Given the description of an element on the screen output the (x, y) to click on. 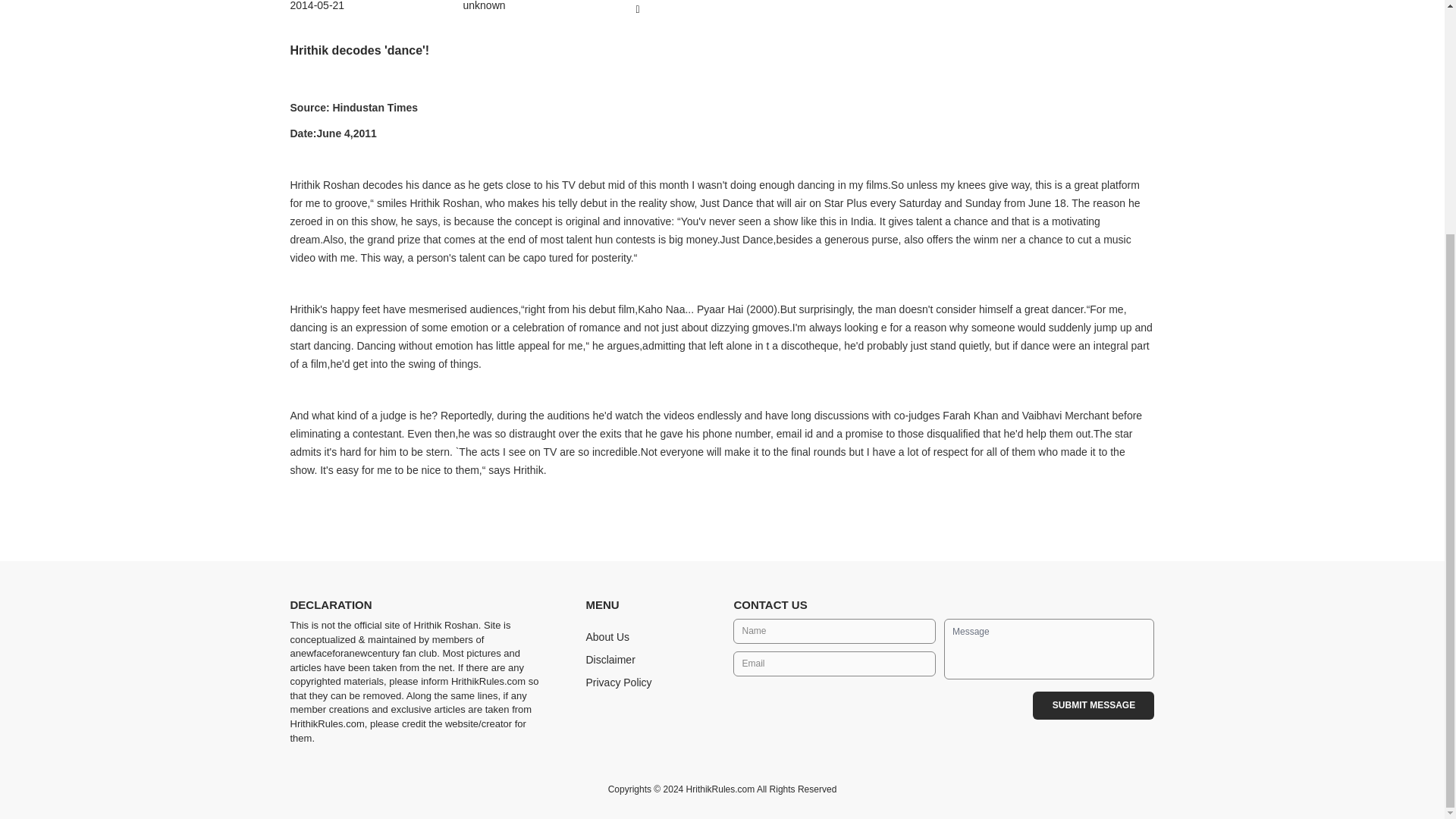
Privacy Policy (617, 682)
Disclaimer (609, 659)
SUBMIT MESSAGE (1093, 705)
About Us (606, 636)
